Given the description of an element on the screen output the (x, y) to click on. 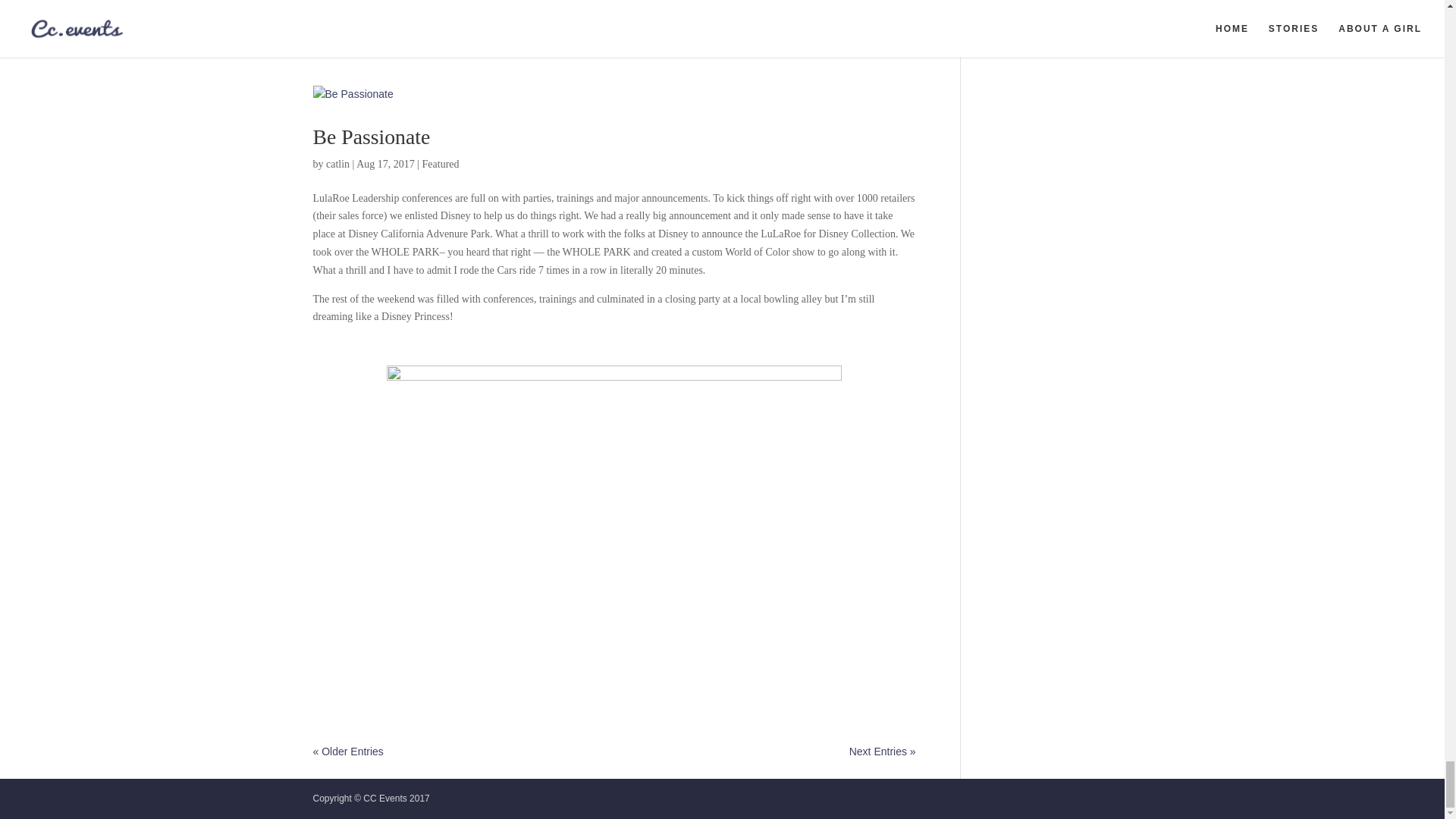
Featured (441, 163)
Posts by catlin (337, 163)
Be Passionate (371, 136)
catlin (337, 163)
